Given the description of an element on the screen output the (x, y) to click on. 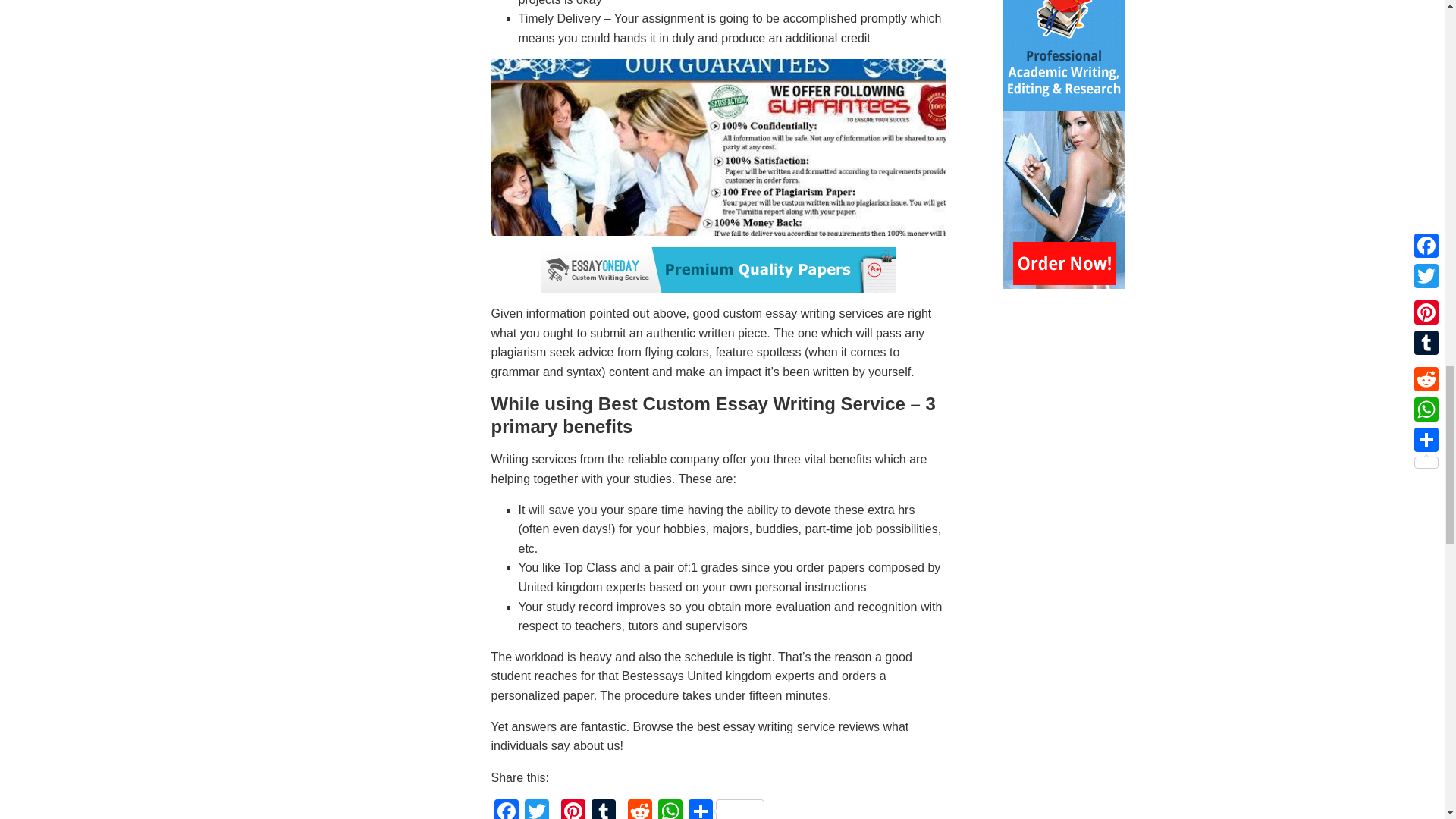
The best essay writing service uk papers from UK (719, 146)
Twitter (536, 809)
Reddit (639, 809)
Pinterest (572, 809)
WhatsApp (670, 809)
Tumblr (603, 809)
Facebook (506, 809)
